Given the description of an element on the screen output the (x, y) to click on. 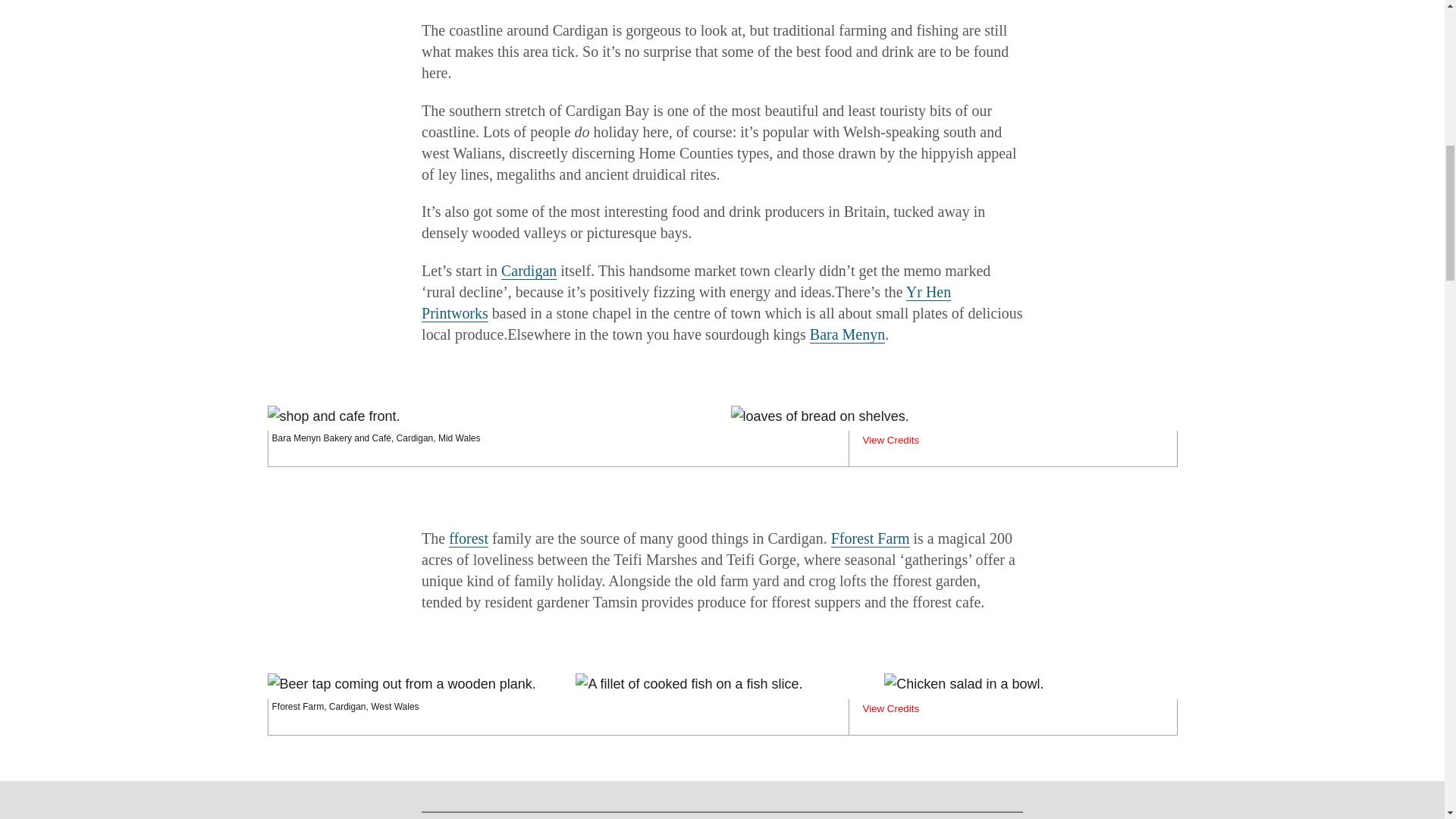
Yr Hen Printworks (686, 302)
fforest (467, 538)
View Credits (891, 708)
Fforest Farm (870, 538)
Cardigan (528, 271)
View Credits (891, 439)
Bara Menyn (847, 334)
Things to do in Cardigan (528, 271)
